Given the description of an element on the screen output the (x, y) to click on. 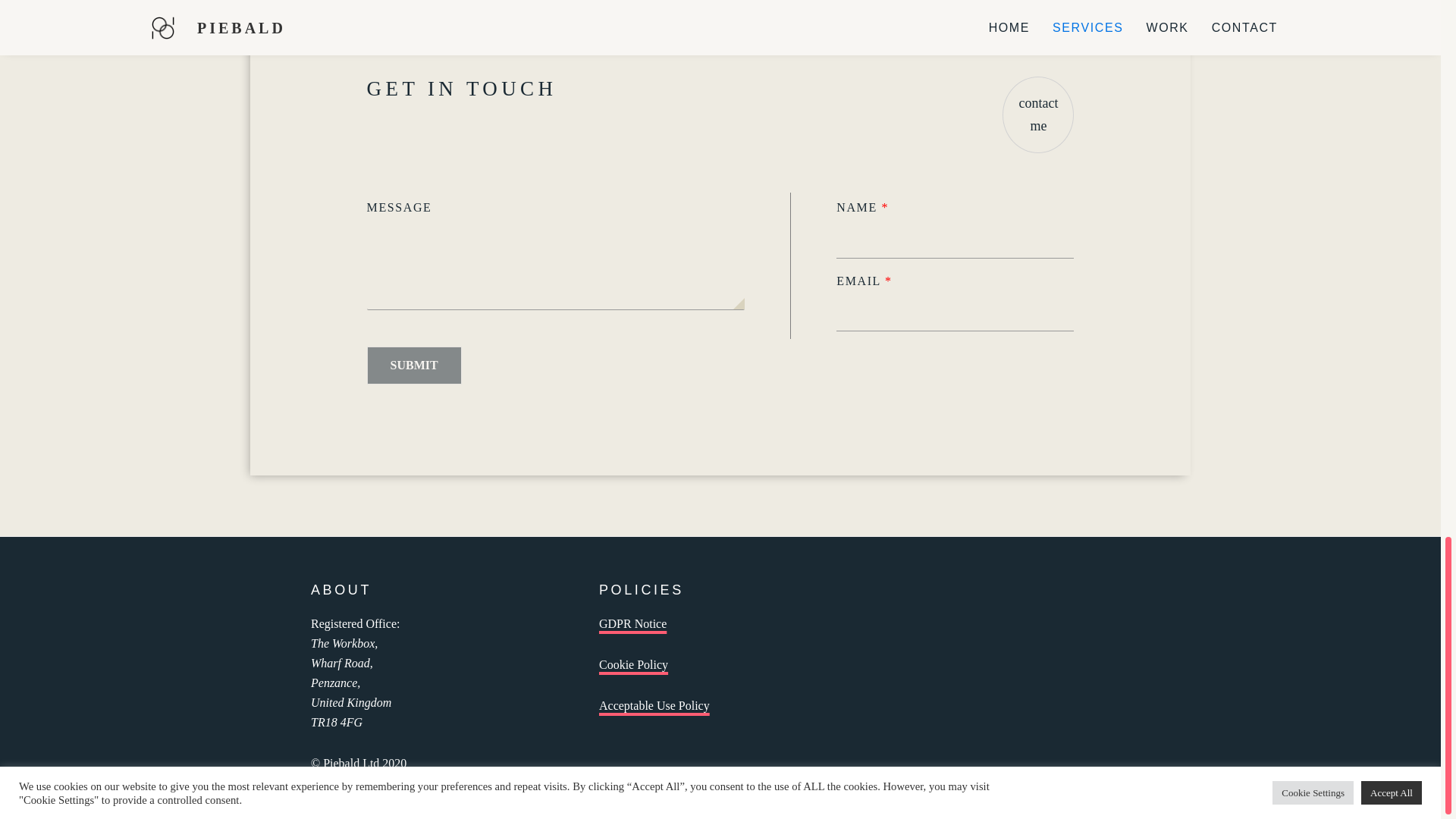
Acceptable Use Policy (654, 705)
GDPR Notice (632, 623)
Cookie Policy (633, 664)
SUBMIT (413, 365)
